Given the description of an element on the screen output the (x, y) to click on. 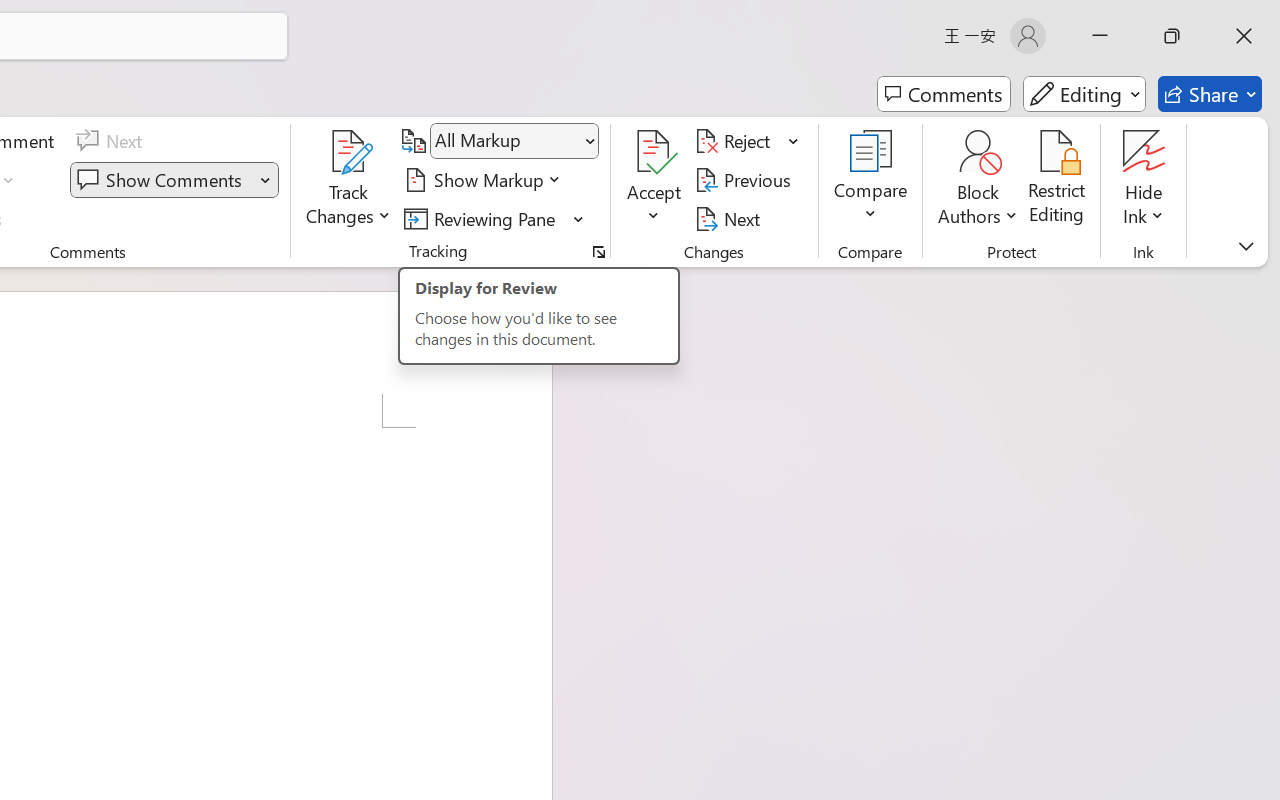
Accept and Move to Next (653, 151)
Display for Review (514, 141)
Show Comments (174, 179)
Reviewing Pane (483, 218)
Hide Ink (1144, 151)
Track Changes (349, 179)
Next (730, 218)
Change Tracking Options... (598, 252)
Block Authors (977, 151)
Hide Ink (1144, 179)
